Given the description of an element on the screen output the (x, y) to click on. 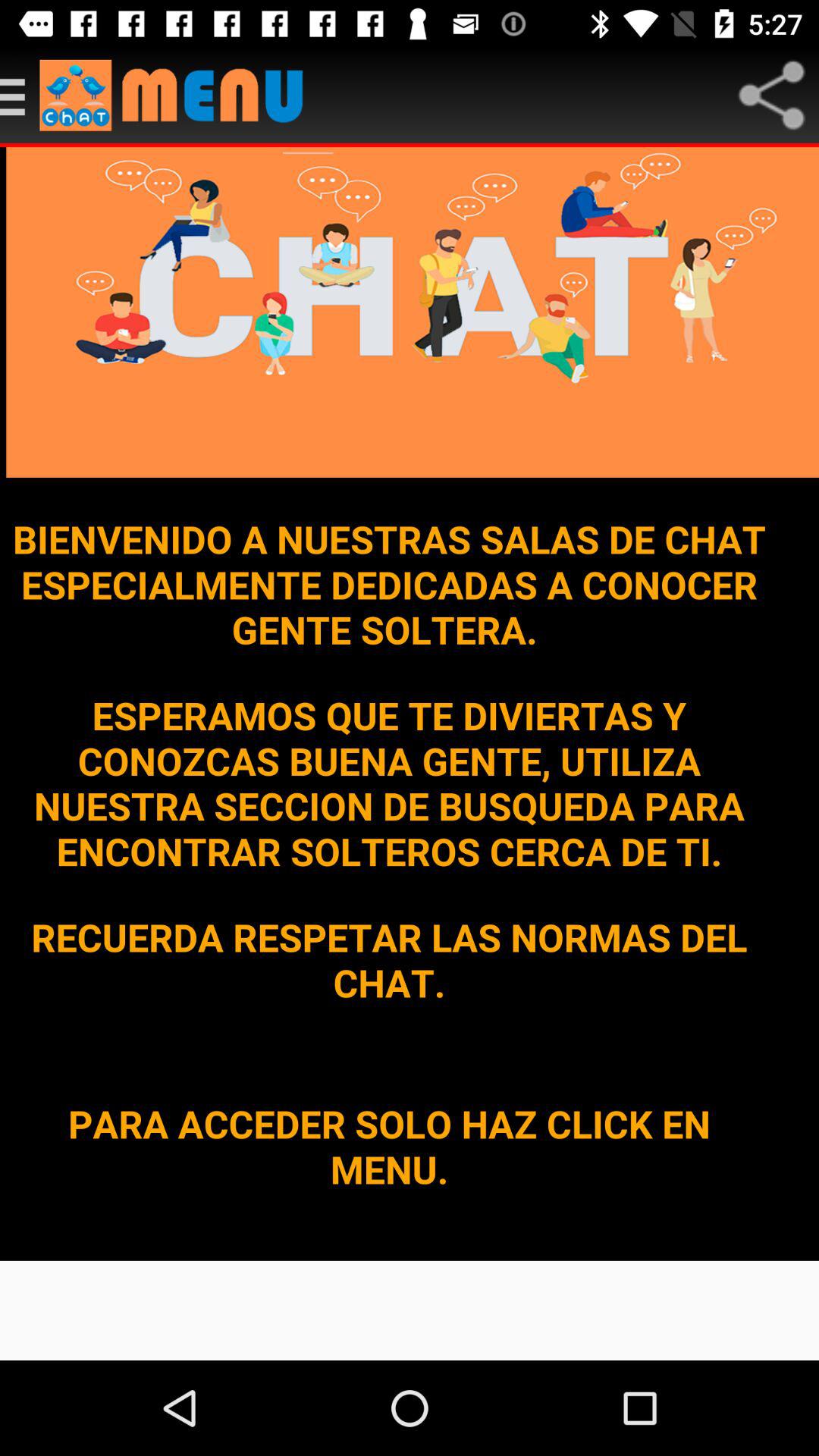
open menu (178, 95)
